Given the description of an element on the screen output the (x, y) to click on. 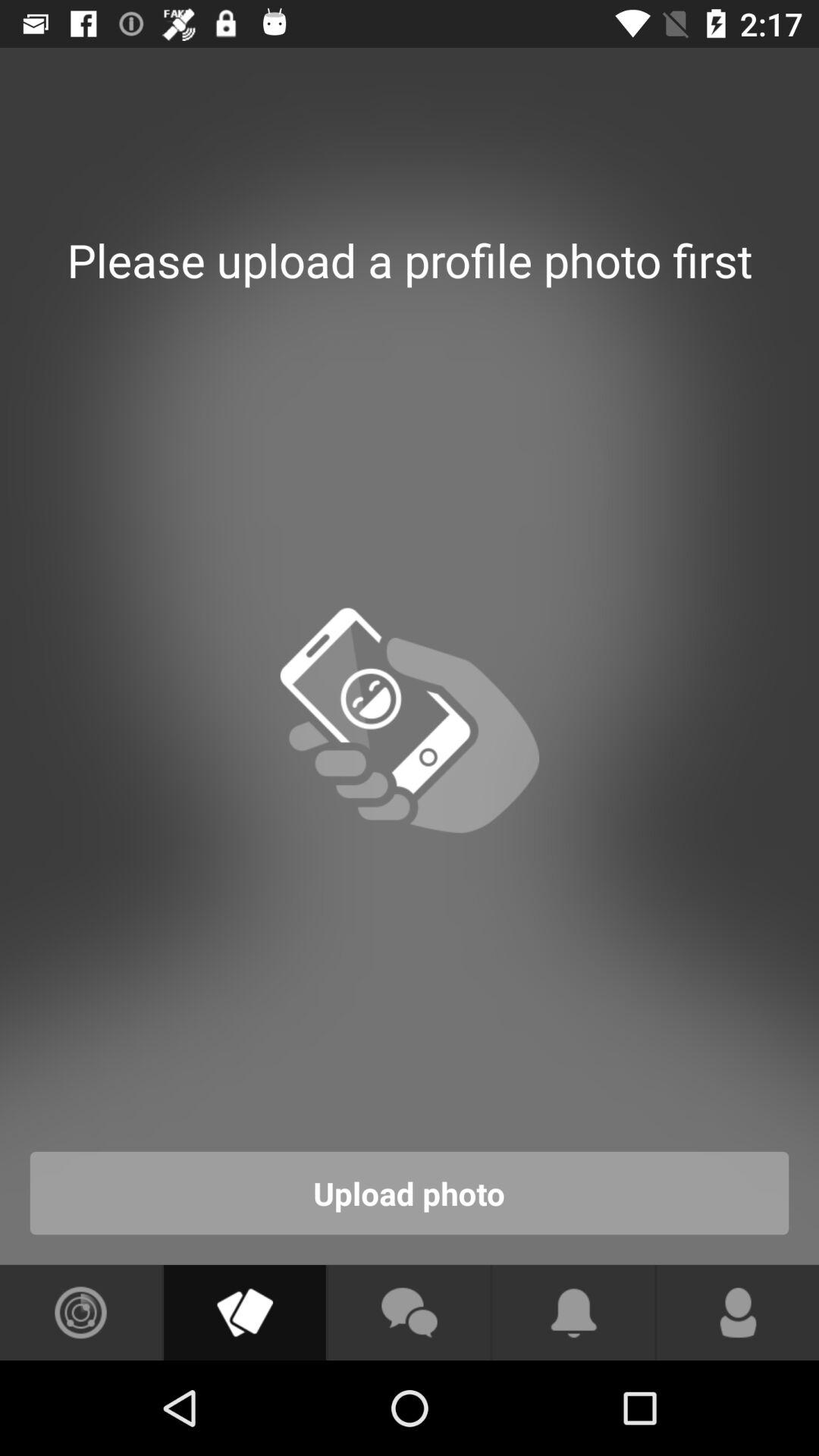
go to massage (409, 1312)
